Given the description of an element on the screen output the (x, y) to click on. 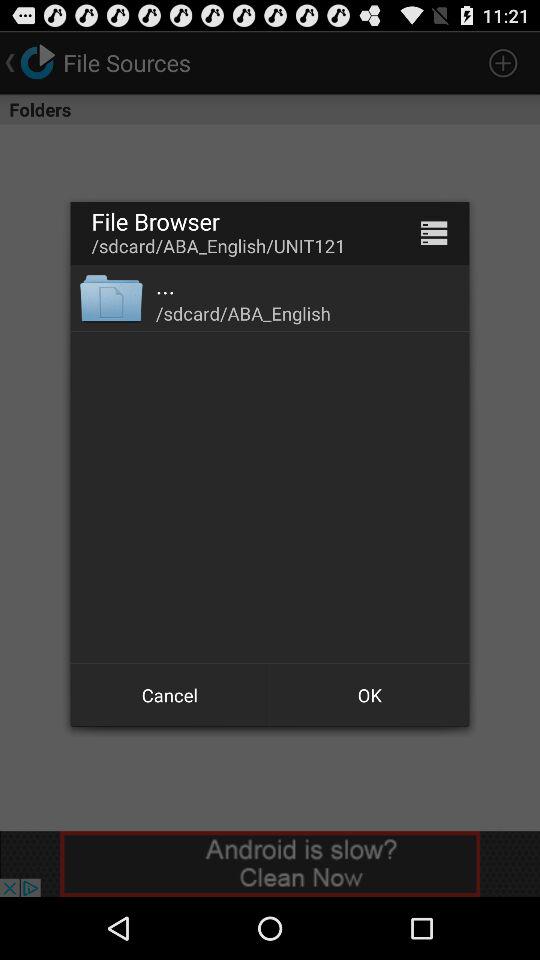
click for menu options (433, 232)
